Given the description of an element on the screen output the (x, y) to click on. 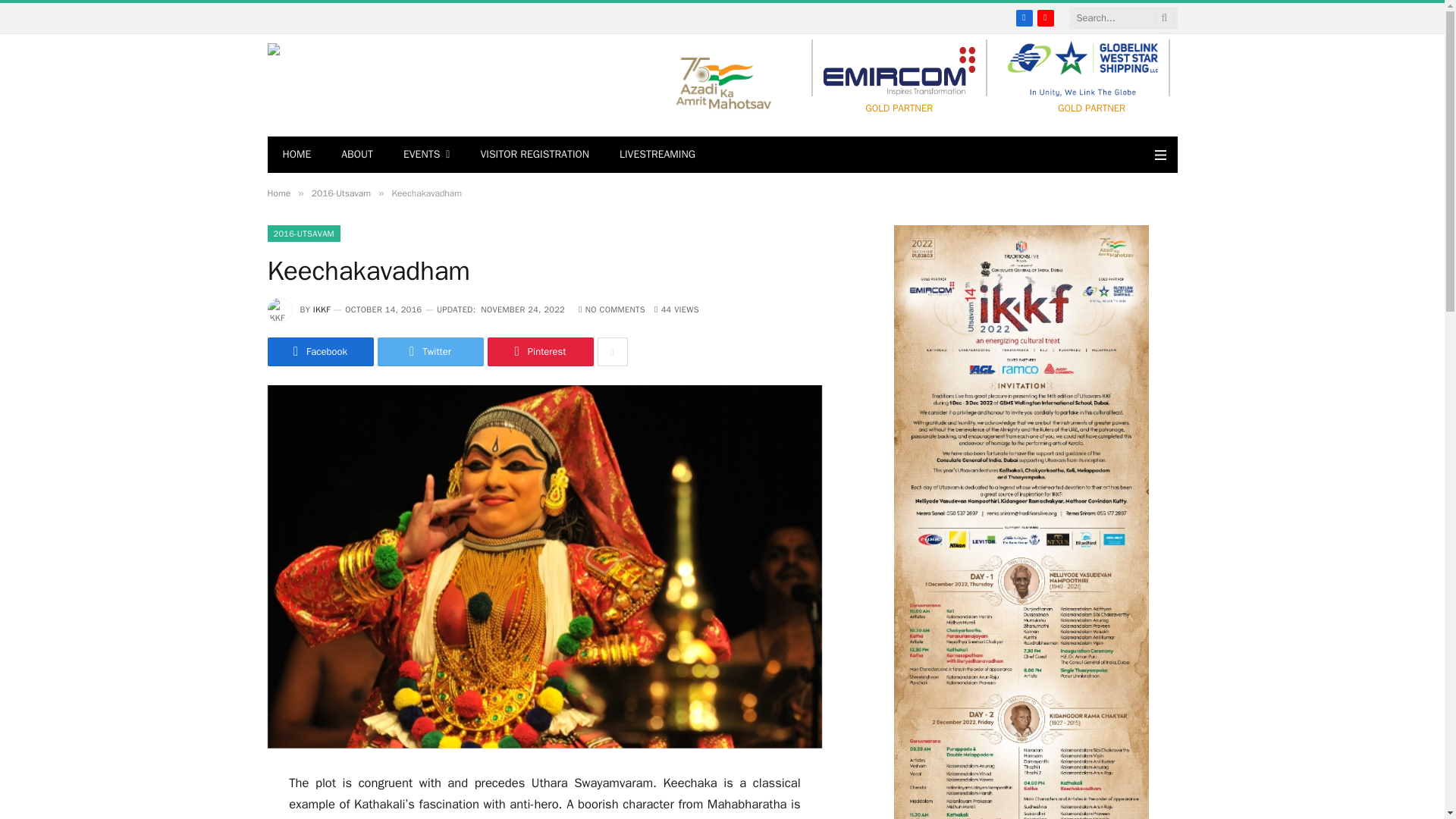
Pinterest (539, 351)
IKKF (321, 308)
Facebook (319, 351)
Show More Social Sharing (611, 351)
Posts by IKKF (321, 308)
44 Article Views (675, 308)
Share on Pinterest (539, 351)
Facebook (1024, 17)
Share on Twitter (430, 351)
Traditions Live (403, 85)
